Given the description of an element on the screen output the (x, y) to click on. 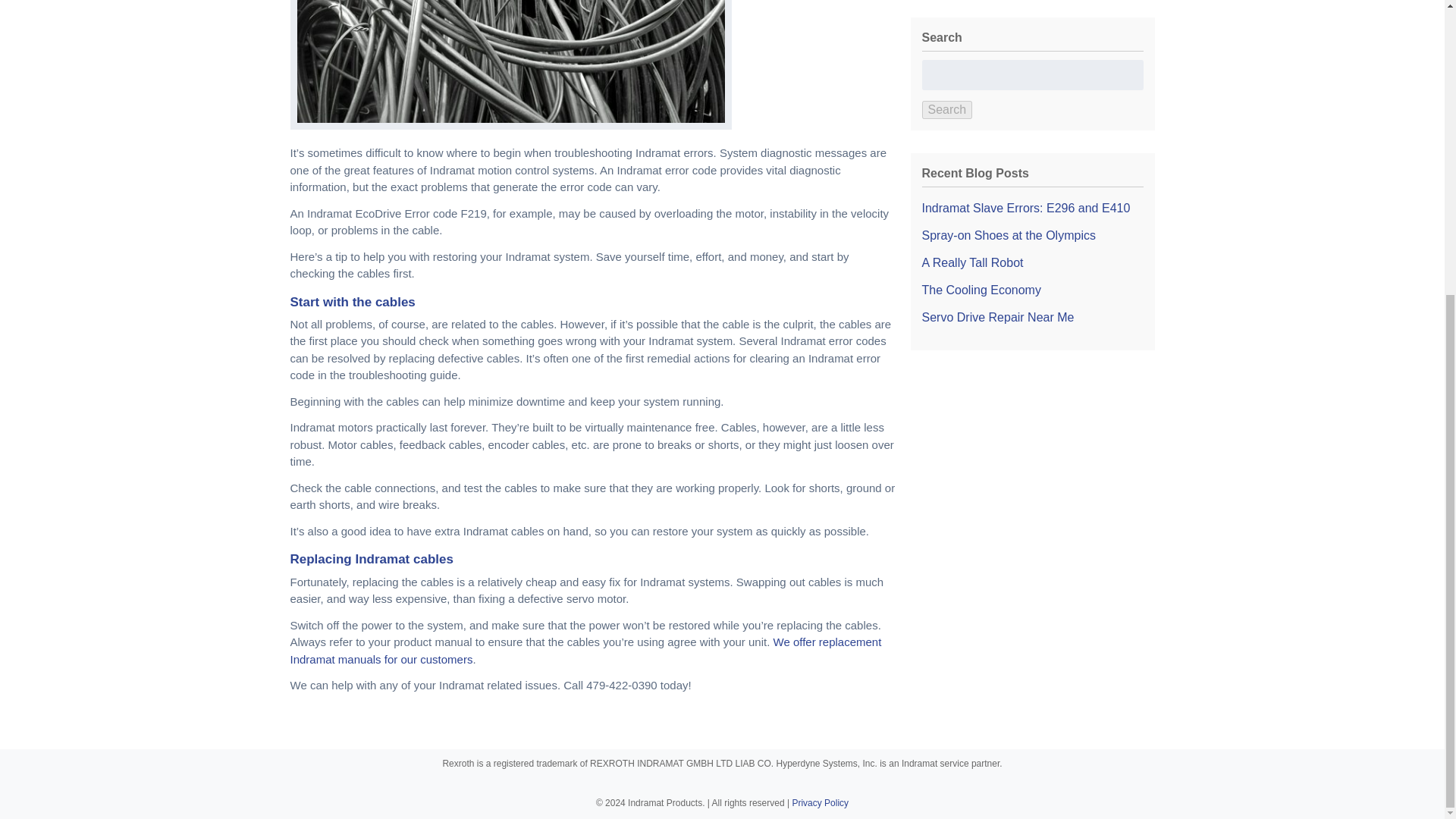
Search (946, 109)
